Given the description of an element on the screen output the (x, y) to click on. 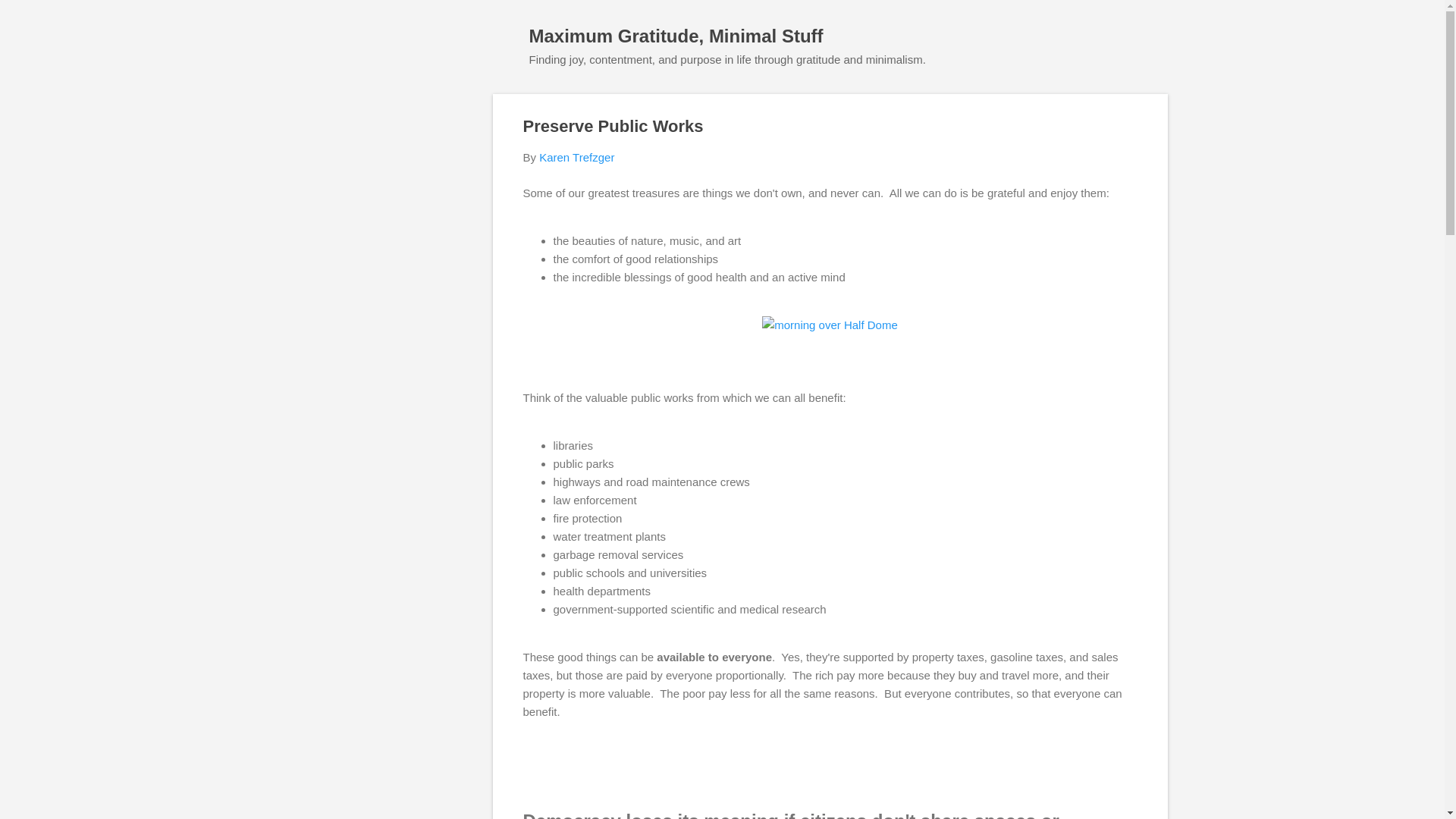
author profile (576, 156)
Maximum Gratitude, Minimal Stuff (676, 35)
Search (29, 18)
morning over Half Dome - photo by Casey Horner on Unsplash (829, 324)
Karen Trefzger (576, 156)
